Given the description of an element on the screen output the (x, y) to click on. 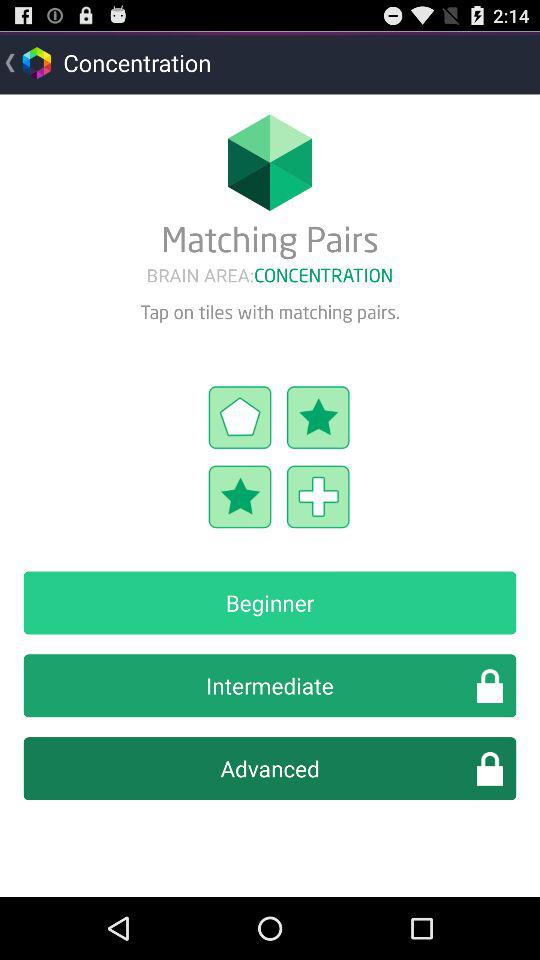
click the button below the beginner button (269, 685)
